Given the description of an element on the screen output the (x, y) to click on. 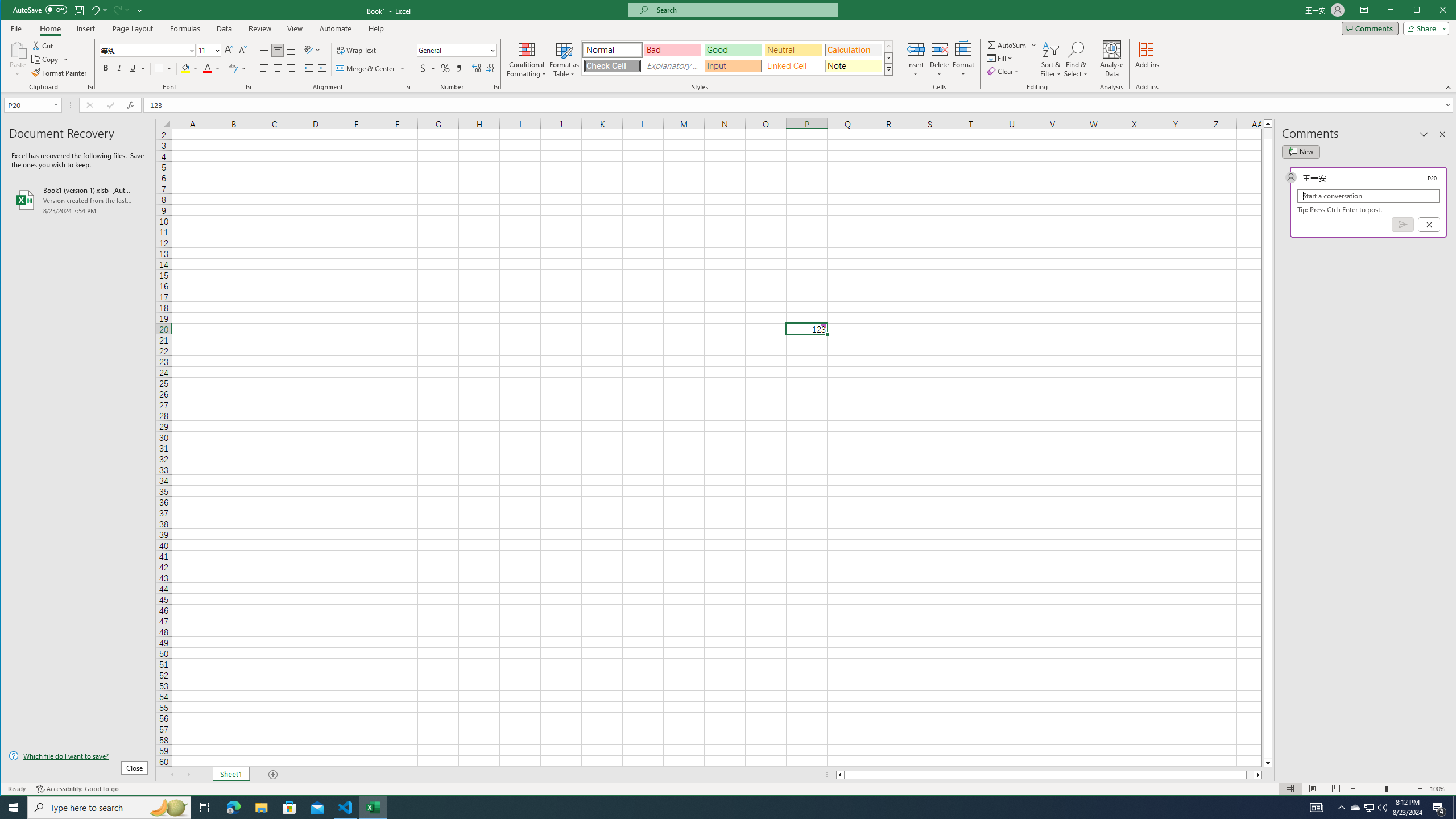
Fill (1000, 57)
Font (147, 49)
Fill Color (189, 68)
Input (732, 65)
Row up (887, 46)
Note (1368, 807)
Microsoft Store (853, 65)
